Given the description of an element on the screen output the (x, y) to click on. 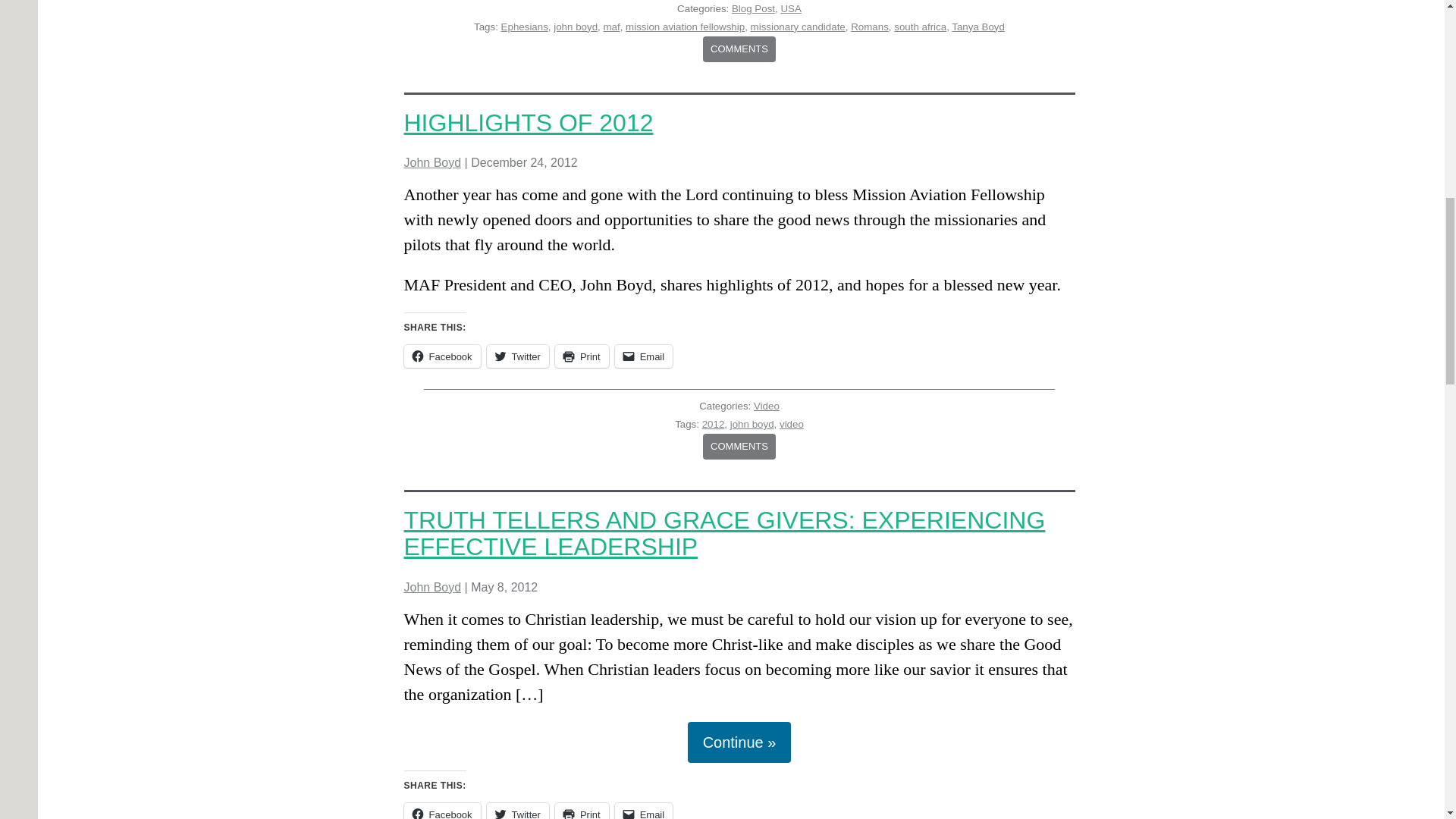
Ephesians (524, 26)
Click to email a link to a friend (643, 355)
Posts by John Boyd (432, 586)
Highlights Of 2012 (527, 122)
Blog Post (753, 8)
Click to print (581, 355)
Click to share on Facebook (441, 811)
Click to share on Twitter (517, 355)
Click to share on Facebook (441, 355)
